Given the description of an element on the screen output the (x, y) to click on. 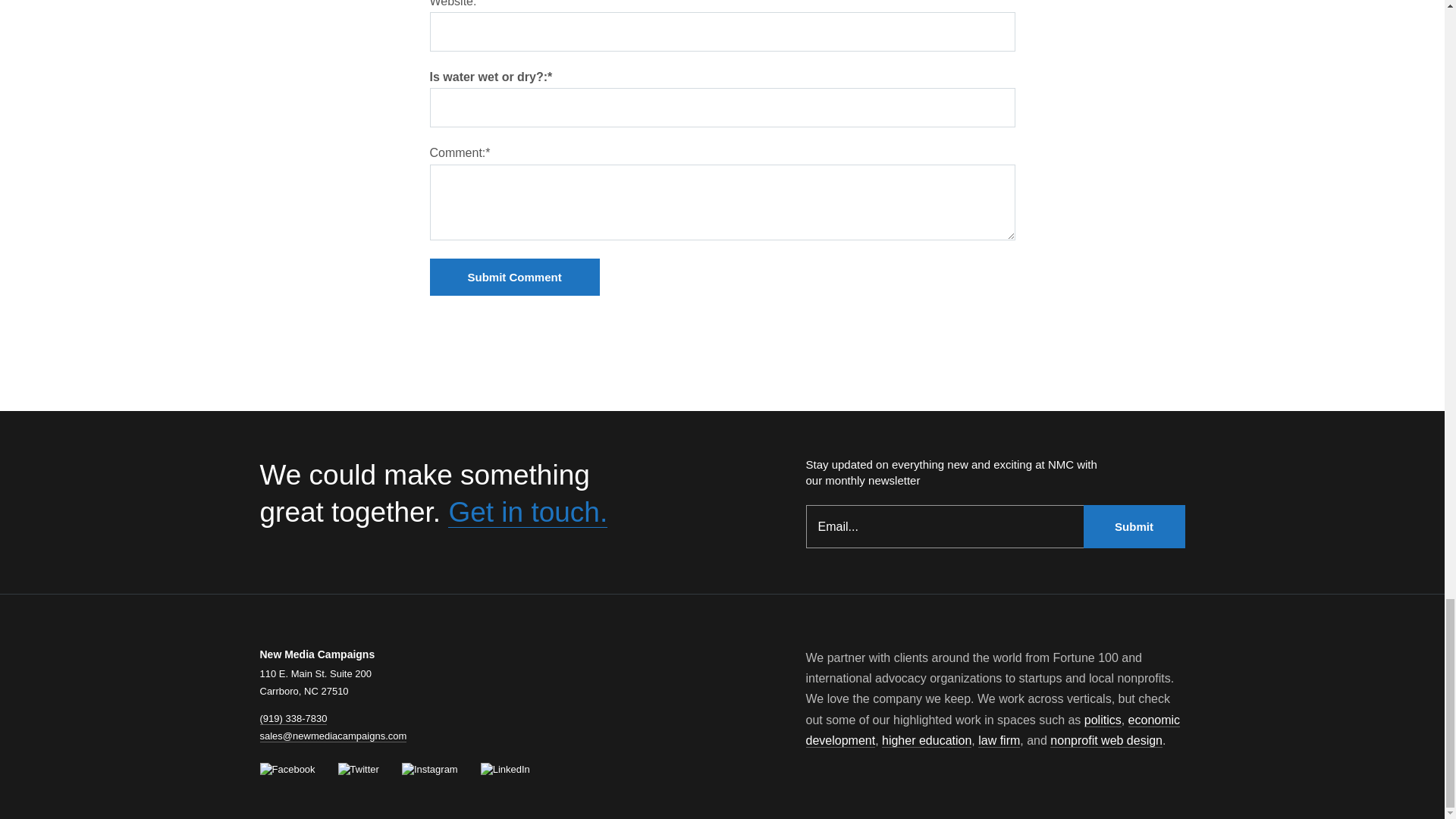
nonprofit web design (1105, 740)
Submit (1134, 526)
law firm (999, 740)
politics (1102, 720)
Submit Comment (513, 276)
Submit Comment (513, 276)
Submit (1134, 526)
higher education (926, 740)
Get in touch. (527, 511)
economic development (992, 730)
